Given the description of an element on the screen output the (x, y) to click on. 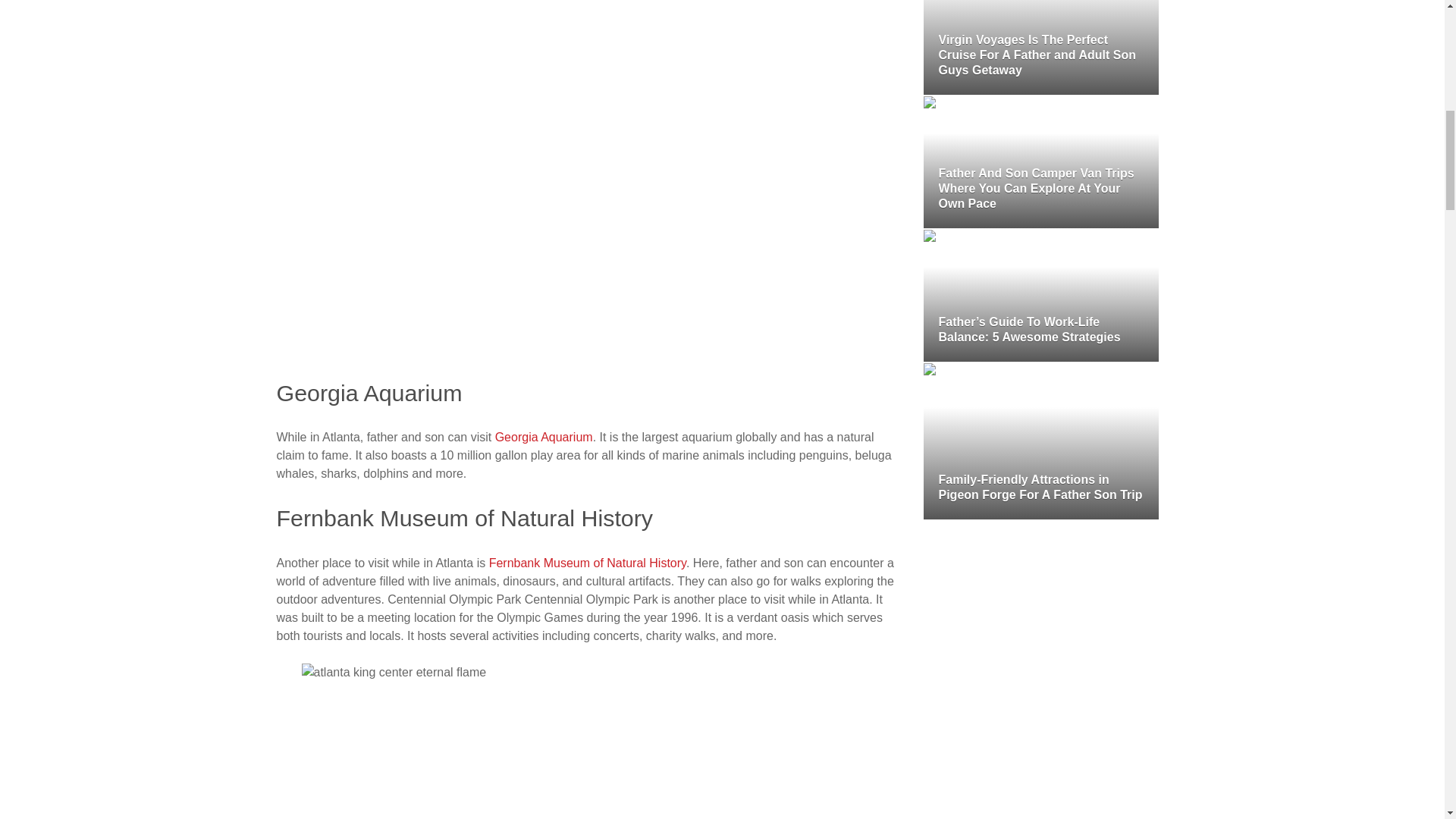
Georgia Aquarium (543, 436)
Fernbank Museum of Natural History (587, 562)
